Given the description of an element on the screen output the (x, y) to click on. 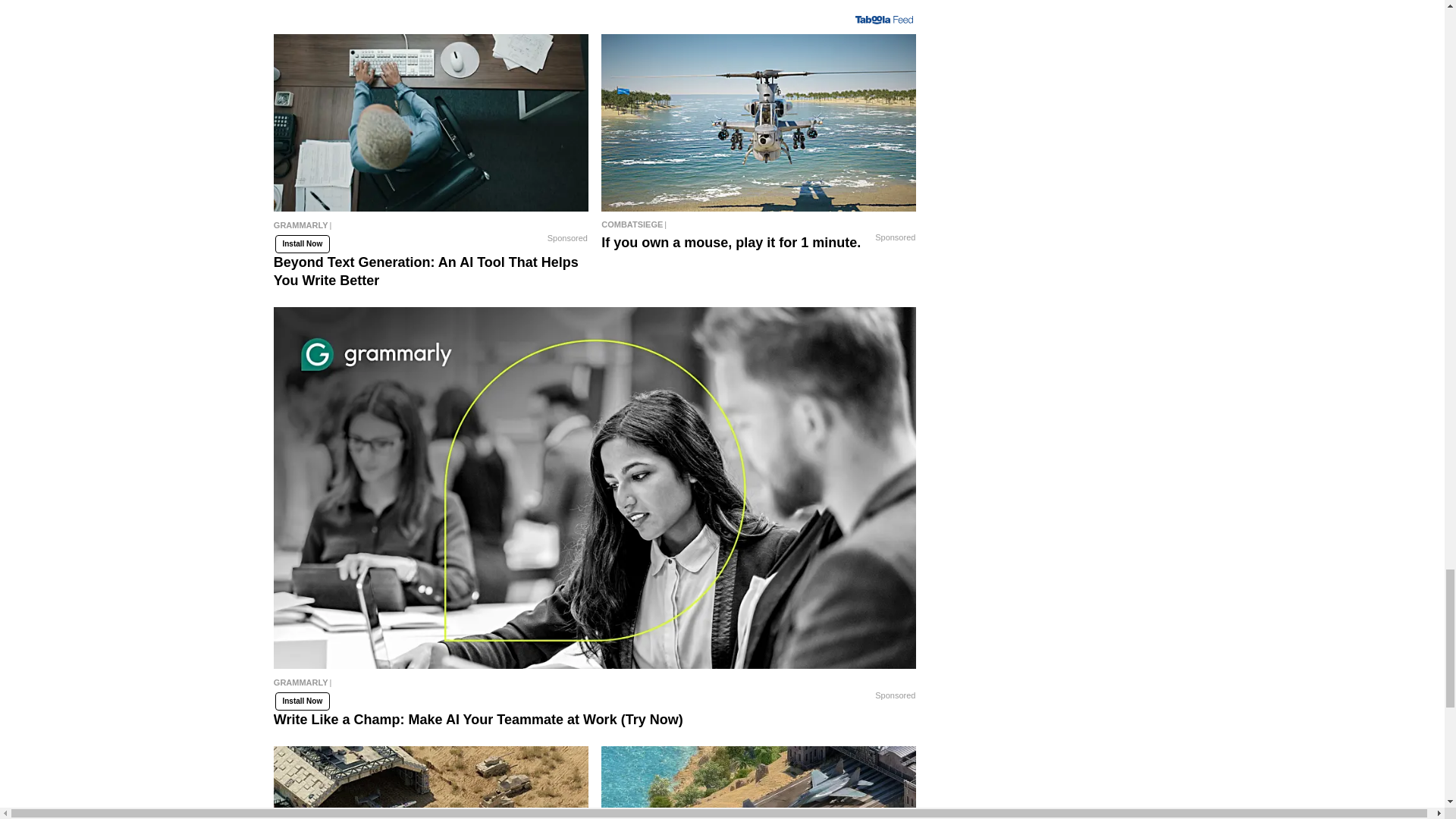
If you own a mouse, play it for 1 minute. (758, 224)
